Given the description of an element on the screen output the (x, y) to click on. 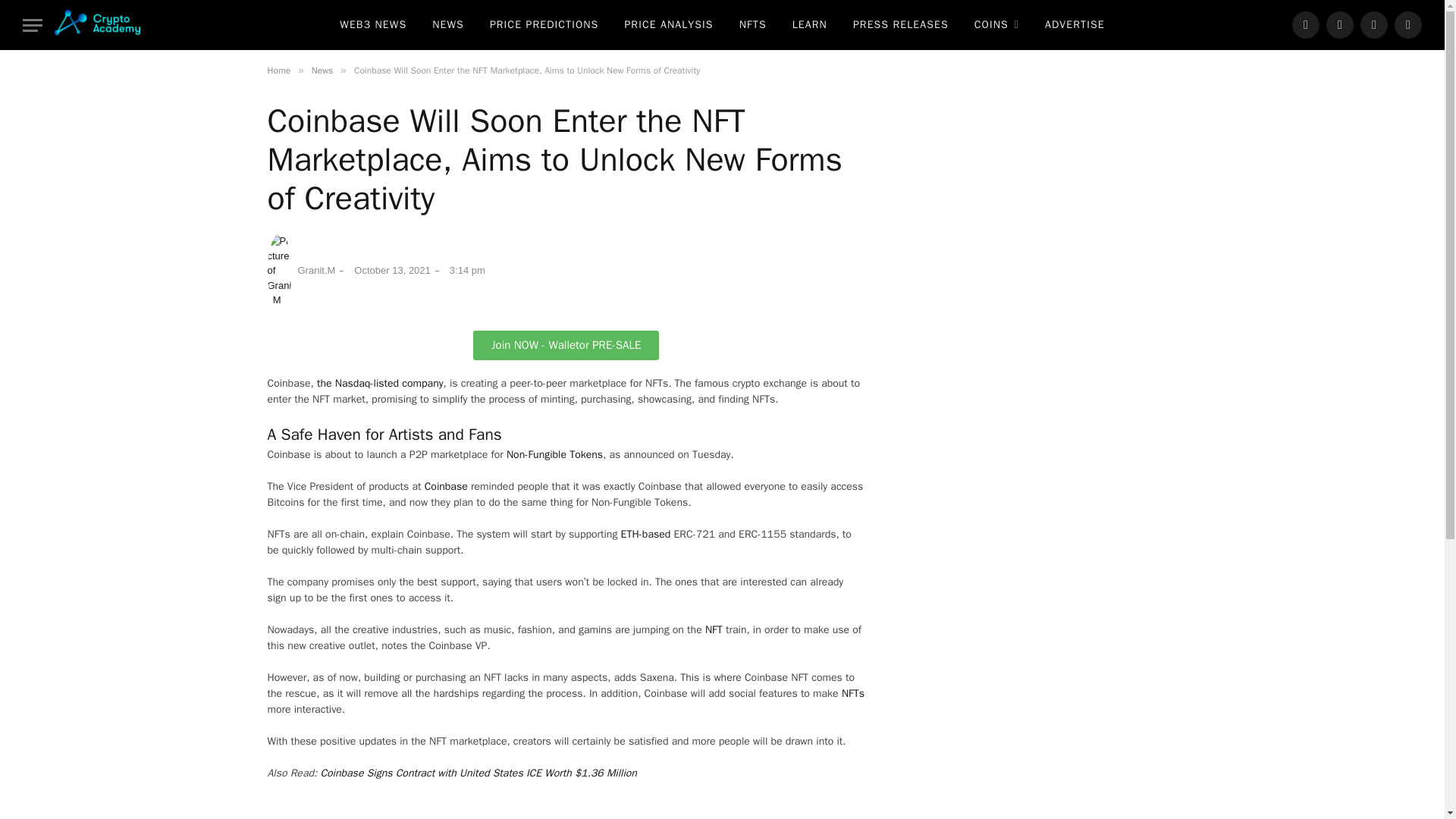
NFTS (752, 24)
PRICE ANALYSIS (668, 24)
ETH-based (646, 533)
Non-Fungible Tokens (554, 454)
NFT (713, 629)
News (322, 70)
Granit.M (300, 270)
Crypto Academy (96, 24)
PRICE PREDICTIONS (544, 24)
Coinbase (446, 486)
